Given the description of an element on the screen output the (x, y) to click on. 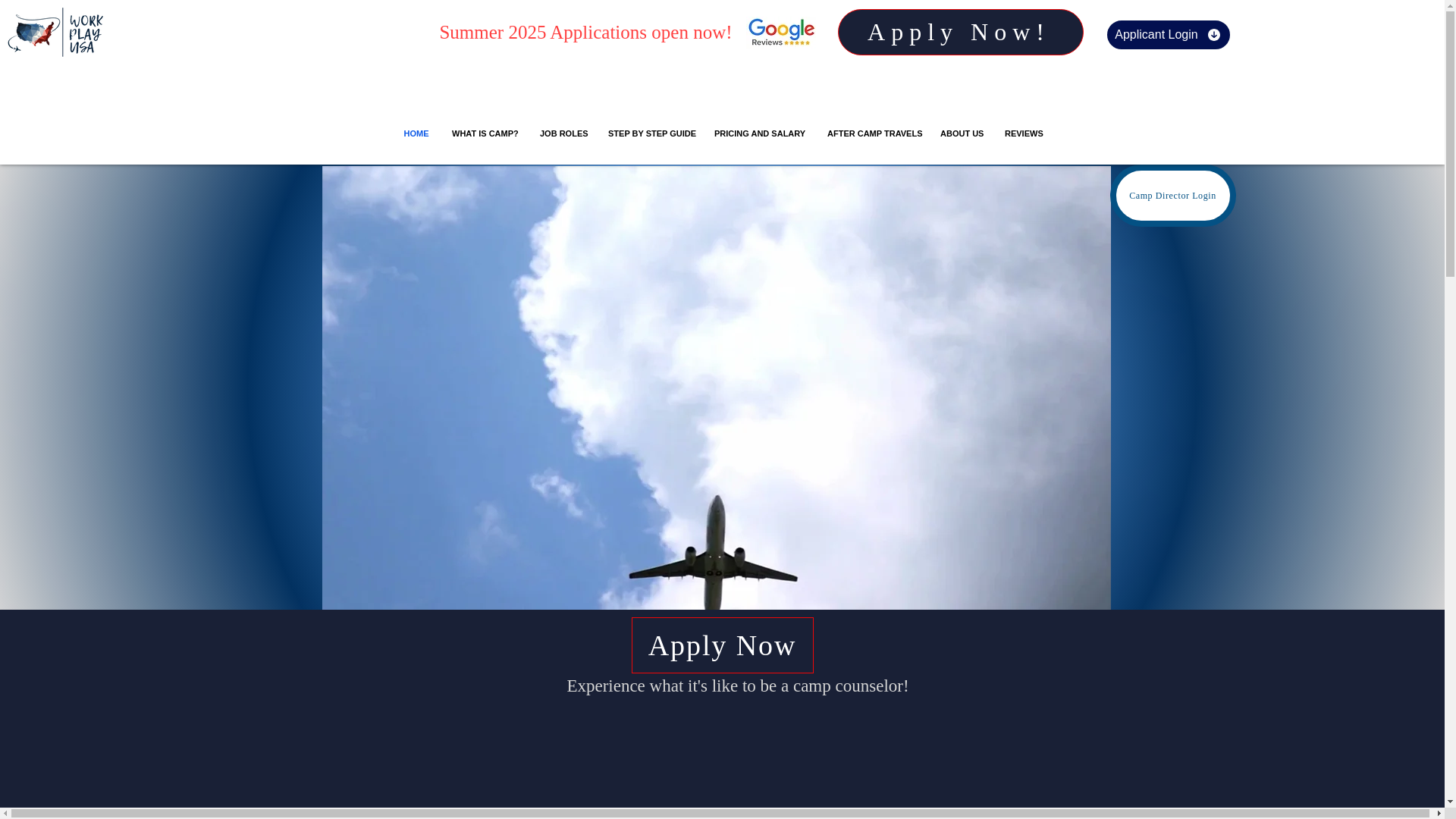
REVIEWS (1022, 133)
Applicant Login (1168, 34)
ABOUT US (960, 133)
Camp Director Login (1172, 195)
AFTER CAMP TRAVELS (871, 133)
Apply Now! (960, 32)
Apply Now (721, 645)
HOME (416, 133)
WHAT IS CAMP? (484, 133)
PRICING AND SALARY (759, 133)
STEP BY STEP GUIDE (649, 133)
JOB ROLES (562, 133)
